Given the description of an element on the screen output the (x, y) to click on. 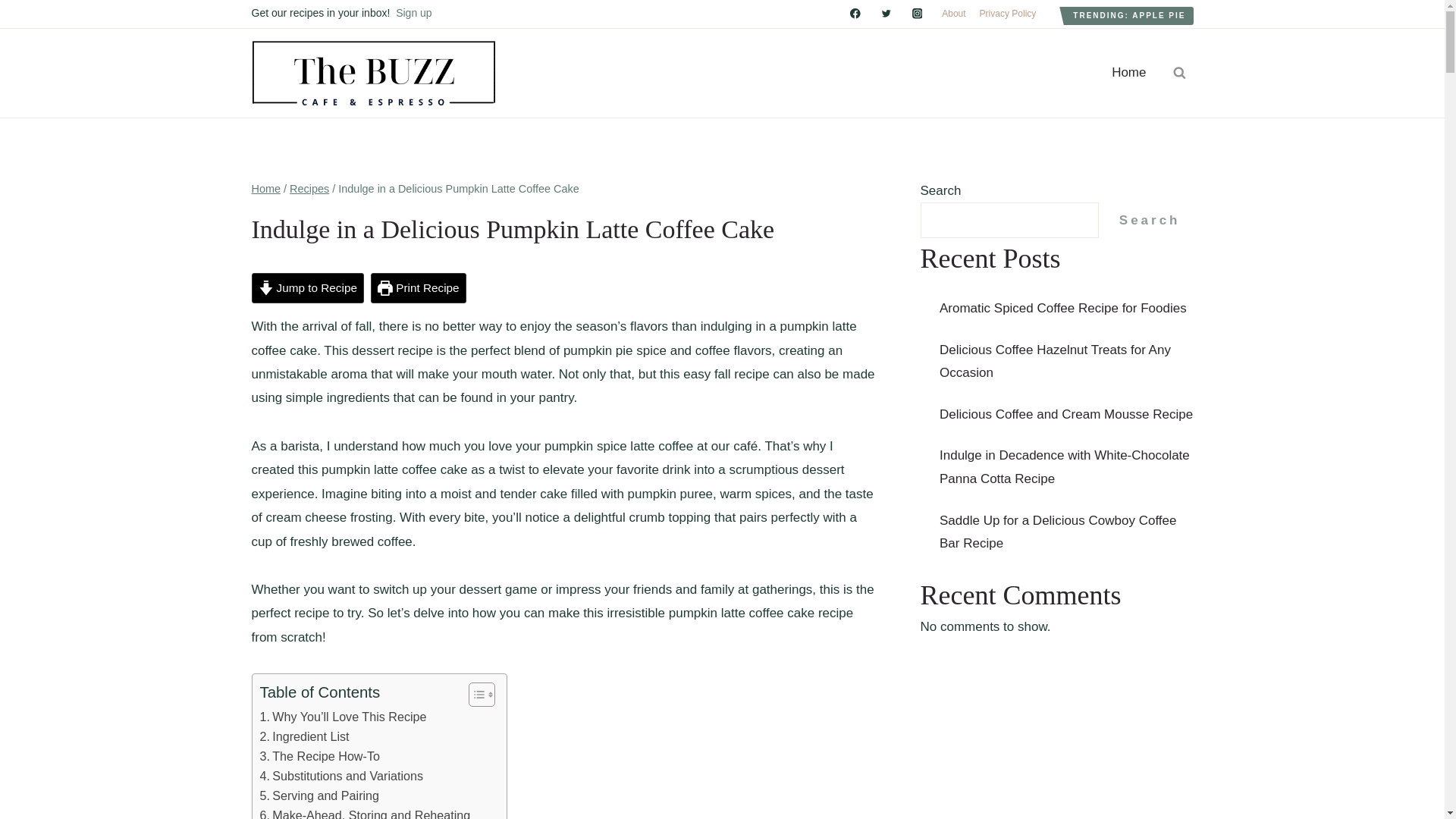
Ingredient List (304, 736)
Make-Ahead, Storing and Reheating (364, 812)
Substitutions and Variations (341, 776)
Search (1149, 220)
Serving and Pairing (318, 795)
About (953, 13)
Print Recipe (418, 287)
Substitutions and Variations (341, 776)
Sign up (413, 12)
TRENDING: APPLE PIE (1128, 15)
Jump to Recipe (307, 287)
Serving and Pairing (318, 795)
Home (1128, 72)
Ingredient List (304, 736)
Make-Ahead, Storing and Reheating (364, 812)
